Given the description of an element on the screen output the (x, y) to click on. 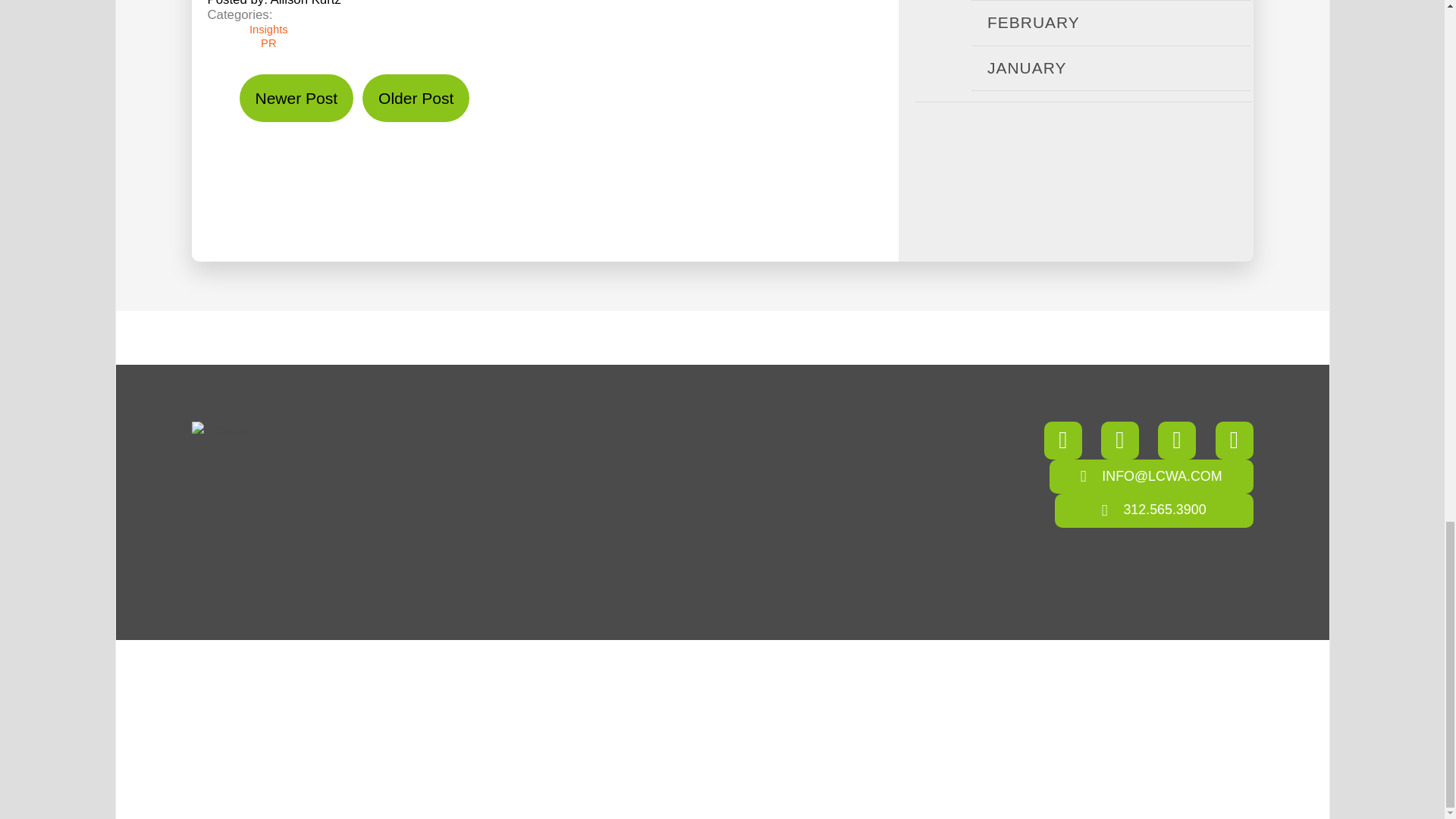
Newer Post (296, 98)
PR (274, 42)
Older Post (415, 98)
Insights (274, 29)
